Given the description of an element on the screen output the (x, y) to click on. 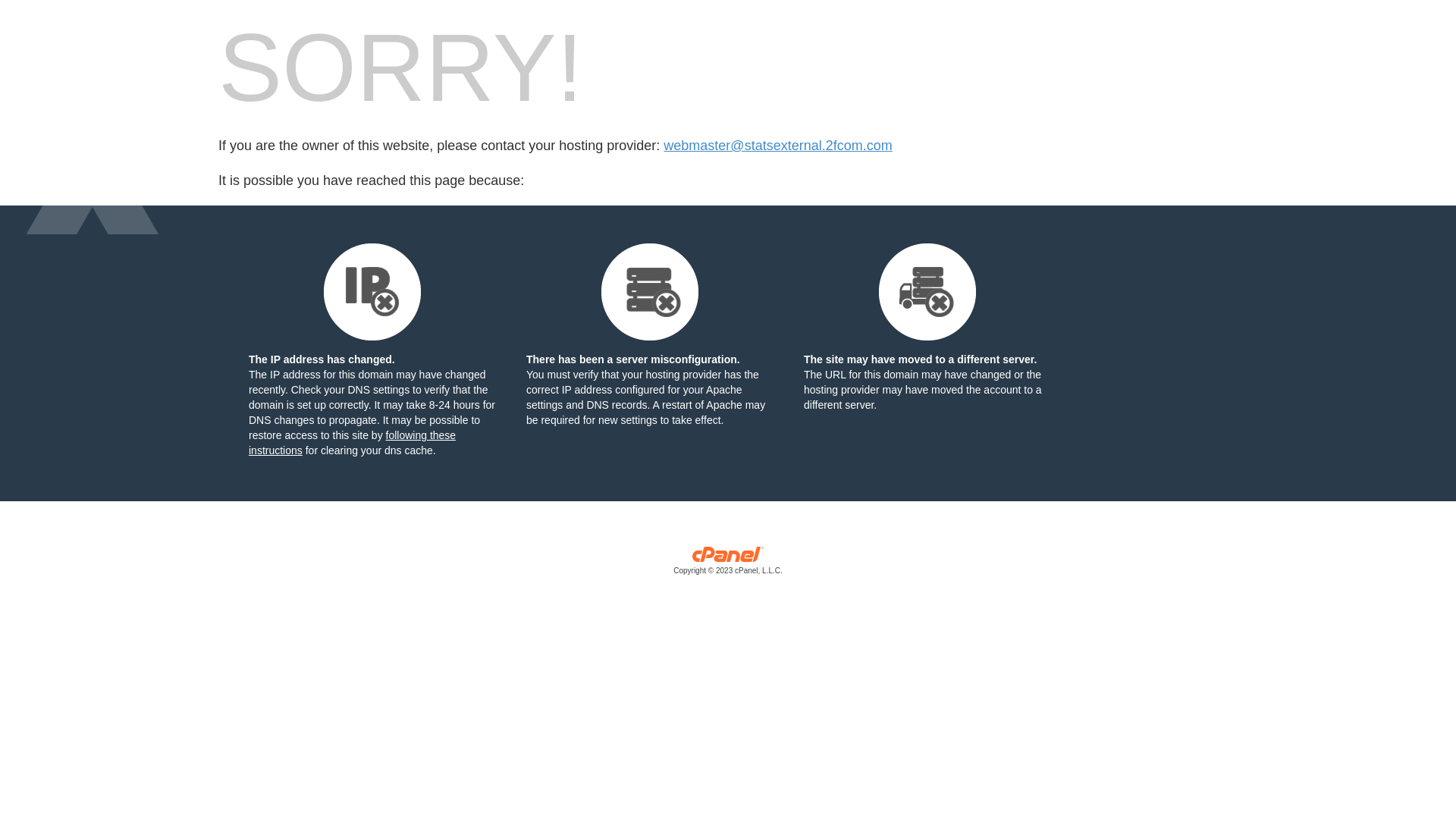
webmaster@statsexternal.2fcom.com Element type: text (777, 145)
following these instructions Element type: text (351, 442)
